Given the description of an element on the screen output the (x, y) to click on. 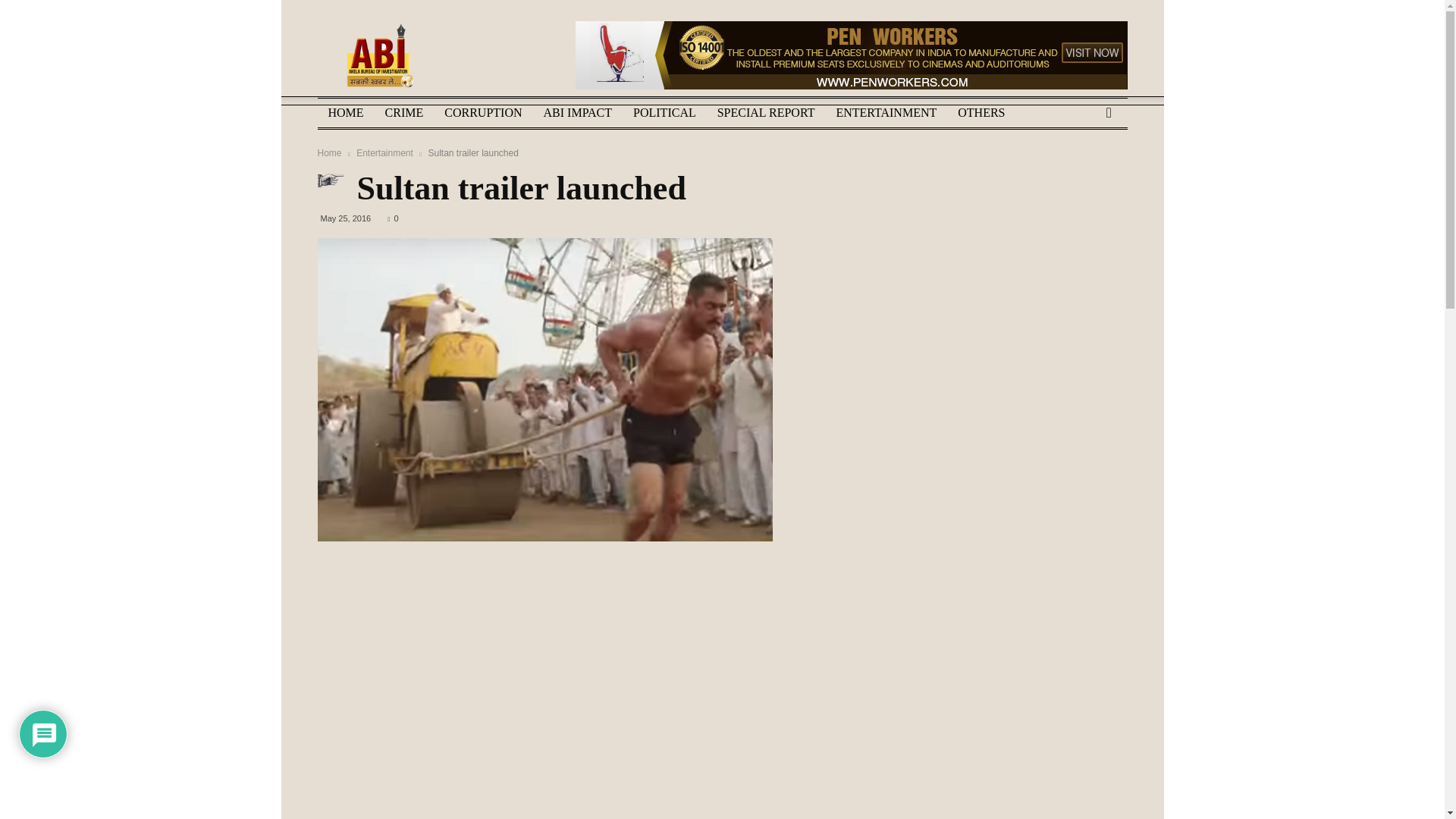
CRIME (403, 112)
ENTERTAINMENT (886, 112)
CORRUPTION (482, 112)
View all posts in Entertainment (384, 153)
Search (1085, 171)
OTHERS (980, 112)
POLITICAL (664, 112)
0 (392, 217)
ABI IMPACT (577, 112)
Home (328, 153)
SPECIAL REPORT (765, 112)
Entertainment (384, 153)
HOME (345, 112)
